Given the description of an element on the screen output the (x, y) to click on. 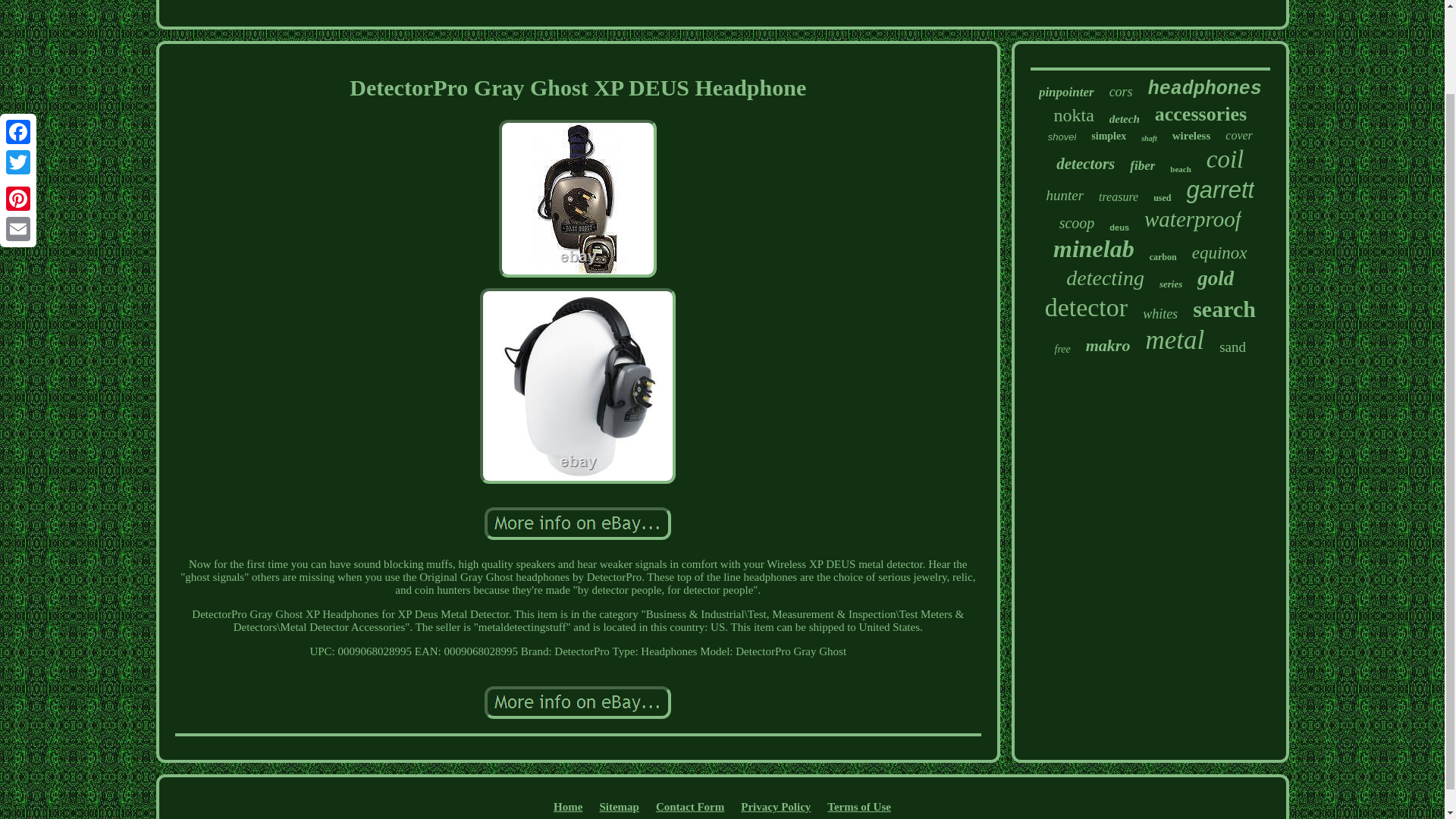
gold (1214, 278)
accessories (1200, 114)
shaft (1149, 138)
fiber (1141, 165)
DetectorPro Gray Ghost XP DEUS Headphone (577, 386)
hunter (1064, 195)
scoop (1076, 222)
used (1161, 197)
shovel (1062, 136)
treasure (1118, 196)
detecting (1104, 278)
cors (1120, 91)
simplex (1107, 136)
cover (1238, 135)
beach (1180, 168)
